Given the description of an element on the screen output the (x, y) to click on. 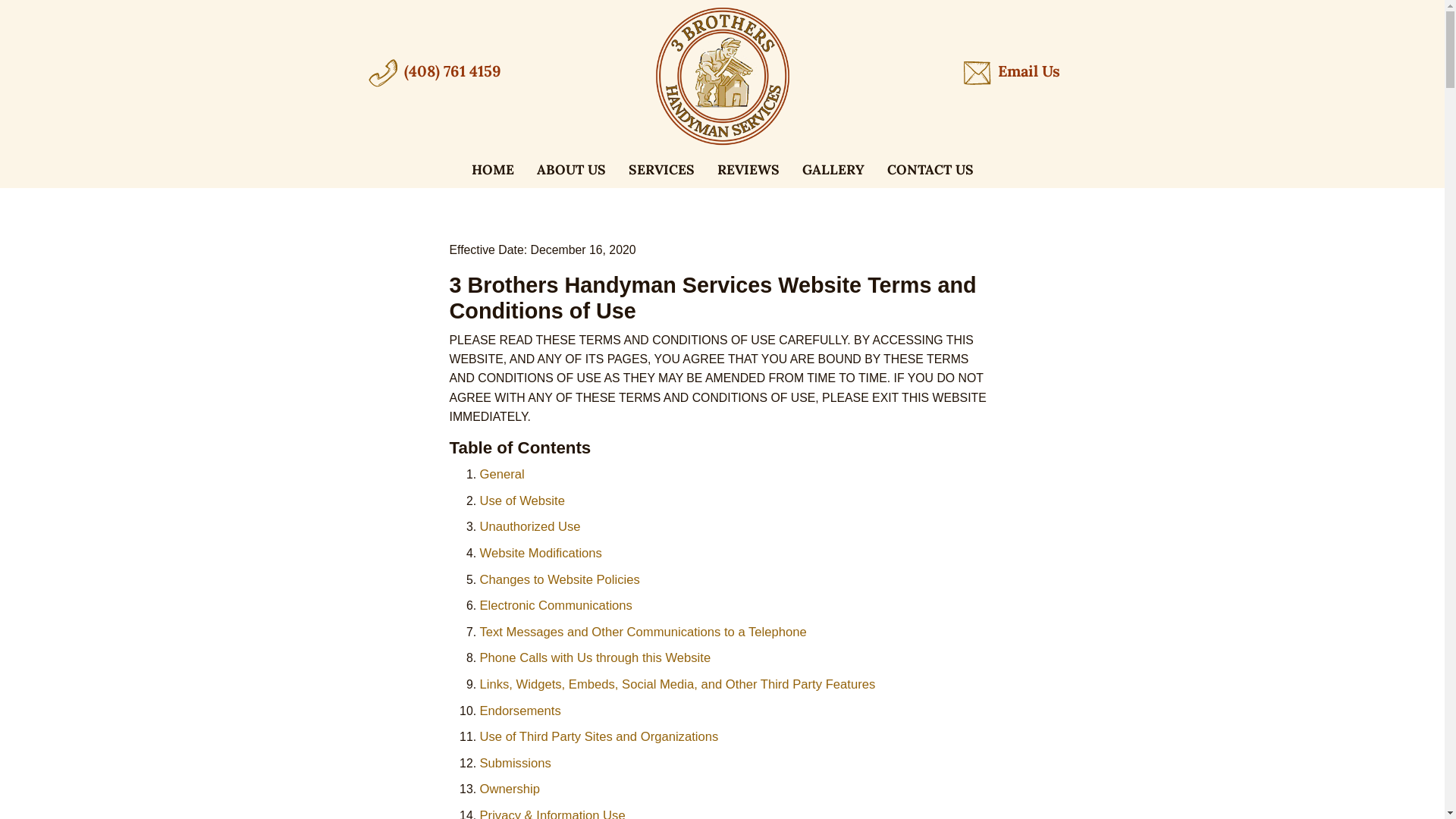
Submissions Element type: text (514, 765)
SERVICES Element type: text (661, 169)
Use of Third Party Sites and Organizations Element type: text (598, 739)
GALLERY Element type: text (832, 169)
Use of Website Element type: text (521, 503)
HOME Element type: text (491, 169)
Ownership Element type: text (509, 791)
Unauthorized Use Element type: text (529, 529)
Changes to Website Policies Element type: text (559, 582)
Electronic Communications Element type: text (555, 608)
Phone Calls with Us through this Website Element type: text (594, 660)
Text Messages and Other Communications to a Telephone Element type: text (642, 634)
ABOUT US Element type: text (570, 169)
(408) 761 4159 Element type: text (433, 72)
CONTACT US Element type: text (929, 169)
Endorsements Element type: text (519, 713)
General Element type: text (501, 476)
Email Us Element type: text (1010, 72)
REVIEWS Element type: text (747, 169)
Website Modifications Element type: text (540, 555)
